Given the description of an element on the screen output the (x, y) to click on. 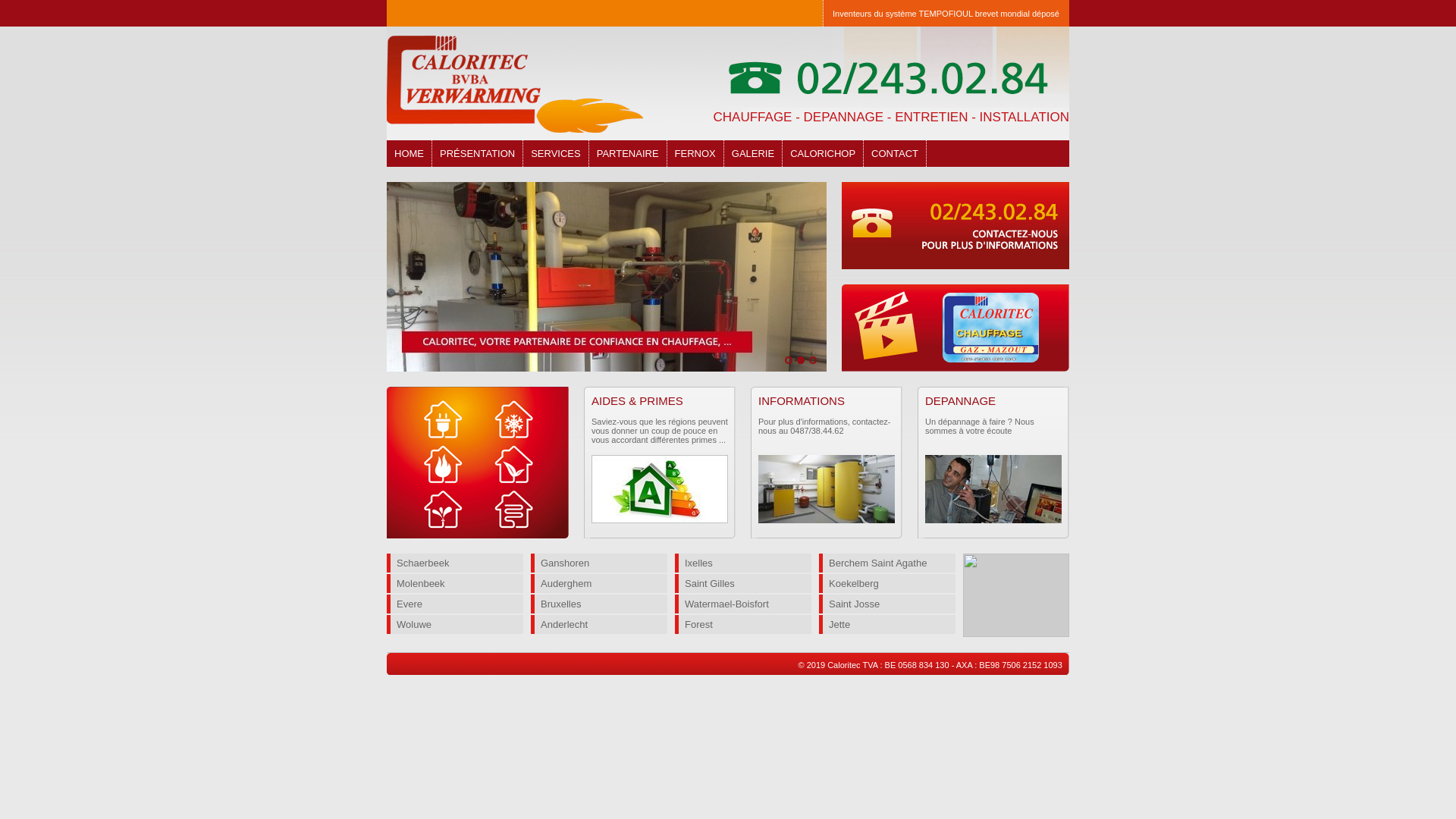
HOME Element type: text (409, 153)
PARTENAIRE Element type: text (628, 153)
DEPANNAGE Element type: text (960, 400)
Saint Josse Element type: text (887, 603)
Watermael-Boisfort Element type: text (742, 603)
Auderghem Element type: text (598, 583)
Berchem Saint Agathe Element type: text (887, 562)
Bruxelles Element type: text (598, 603)
INFORMATIONS Element type: text (801, 400)
Video Caloritec Element type: hover (955, 327)
Woluwe Element type: text (454, 624)
CONTACT Element type: text (894, 153)
SERVICES Element type: text (556, 153)
Ixelles Element type: text (742, 562)
Ganshoren Element type: text (598, 562)
FERNOX Element type: text (695, 153)
Aides et Primes Element type: hover (659, 489)
Molenbeek Element type: text (454, 583)
Anderlecht Element type: text (598, 624)
Forest Element type: text (742, 624)
Schaerbeek Element type: text (454, 562)
Jette Element type: text (887, 624)
Koekelberg Element type: text (887, 583)
Informations Element type: hover (826, 489)
TEMPOFIOUL Element type: text (945, 13)
GALERIE Element type: text (753, 153)
CALORICHOP Element type: text (822, 153)
Evere Element type: text (454, 603)
Saint Gilles Element type: text (742, 583)
Contactez-nous Element type: hover (955, 225)
